Given the description of an element on the screen output the (x, y) to click on. 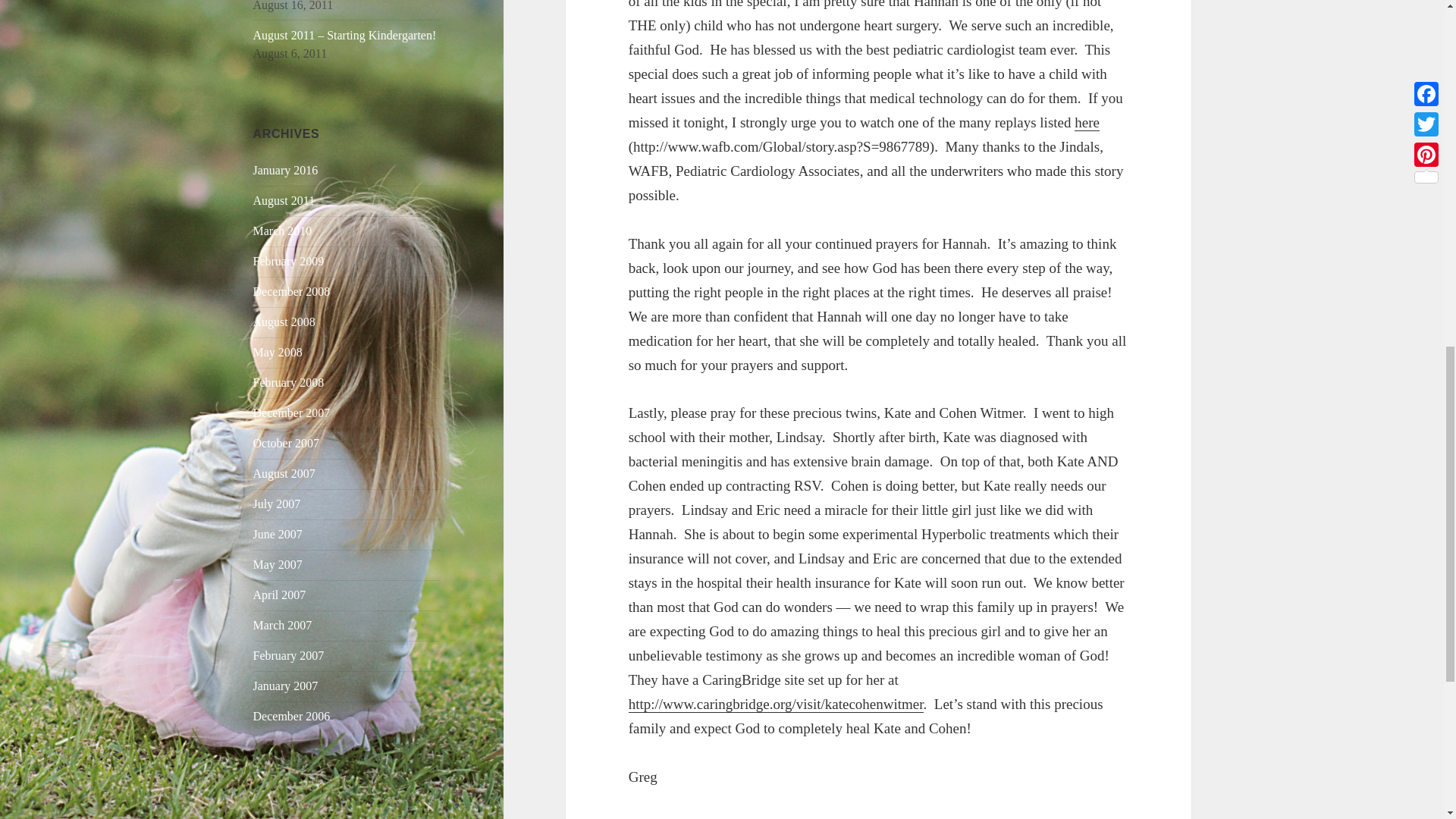
January 2007 (285, 685)
March 2010 (283, 230)
August 2008 (284, 321)
February 2008 (288, 382)
February 2009 (288, 260)
December 2008 (291, 291)
August 2007 (284, 472)
February 2007 (288, 655)
July 2007 (277, 503)
May 2007 (277, 563)
April 2007 (279, 594)
December 2006 (291, 716)
January 2016 (285, 169)
June 2007 (277, 533)
October 2007 (286, 442)
